Given the description of an element on the screen output the (x, y) to click on. 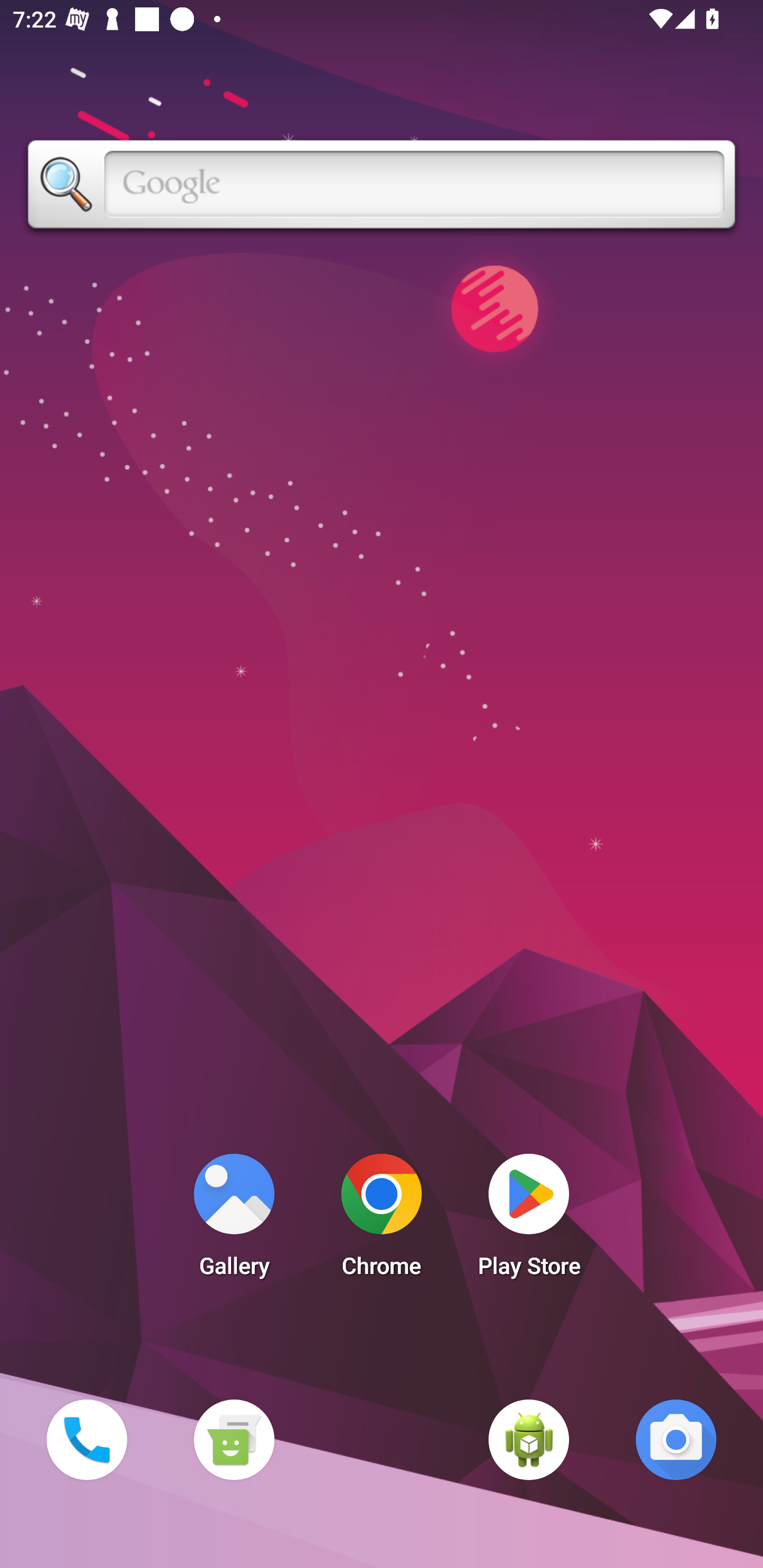
Gallery (233, 1220)
Chrome (381, 1220)
Play Store (528, 1220)
Phone (86, 1439)
Messaging (233, 1439)
WebView Browser Tester (528, 1439)
Camera (676, 1439)
